Given the description of an element on the screen output the (x, y) to click on. 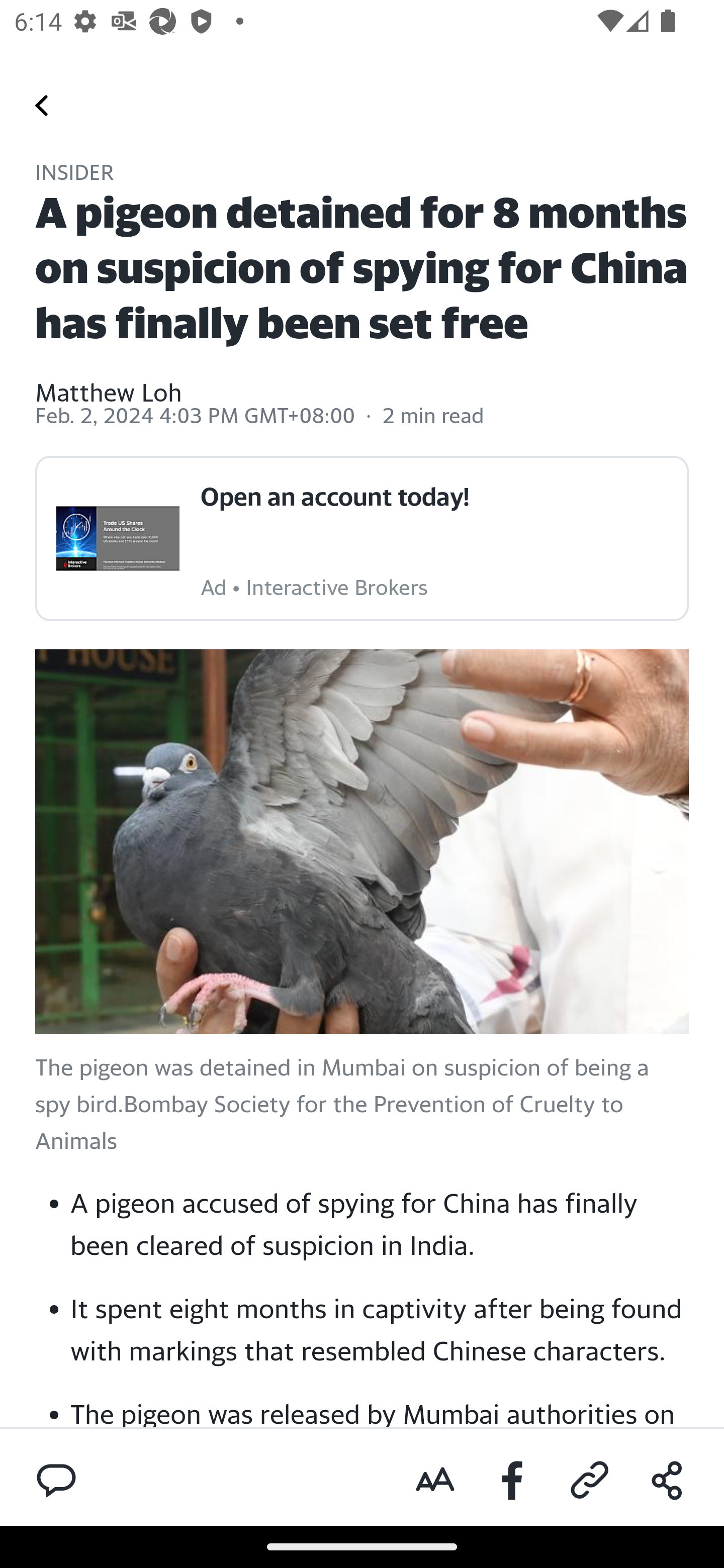
Back (41, 104)
INSIDER (75, 174)
Matthew Loh (108, 379)
View Comments (56, 1479)
Font size (435, 1480)
Share link on Facebook (512, 1480)
Copy link (590, 1480)
Share article (667, 1480)
